Given the description of an element on the screen output the (x, y) to click on. 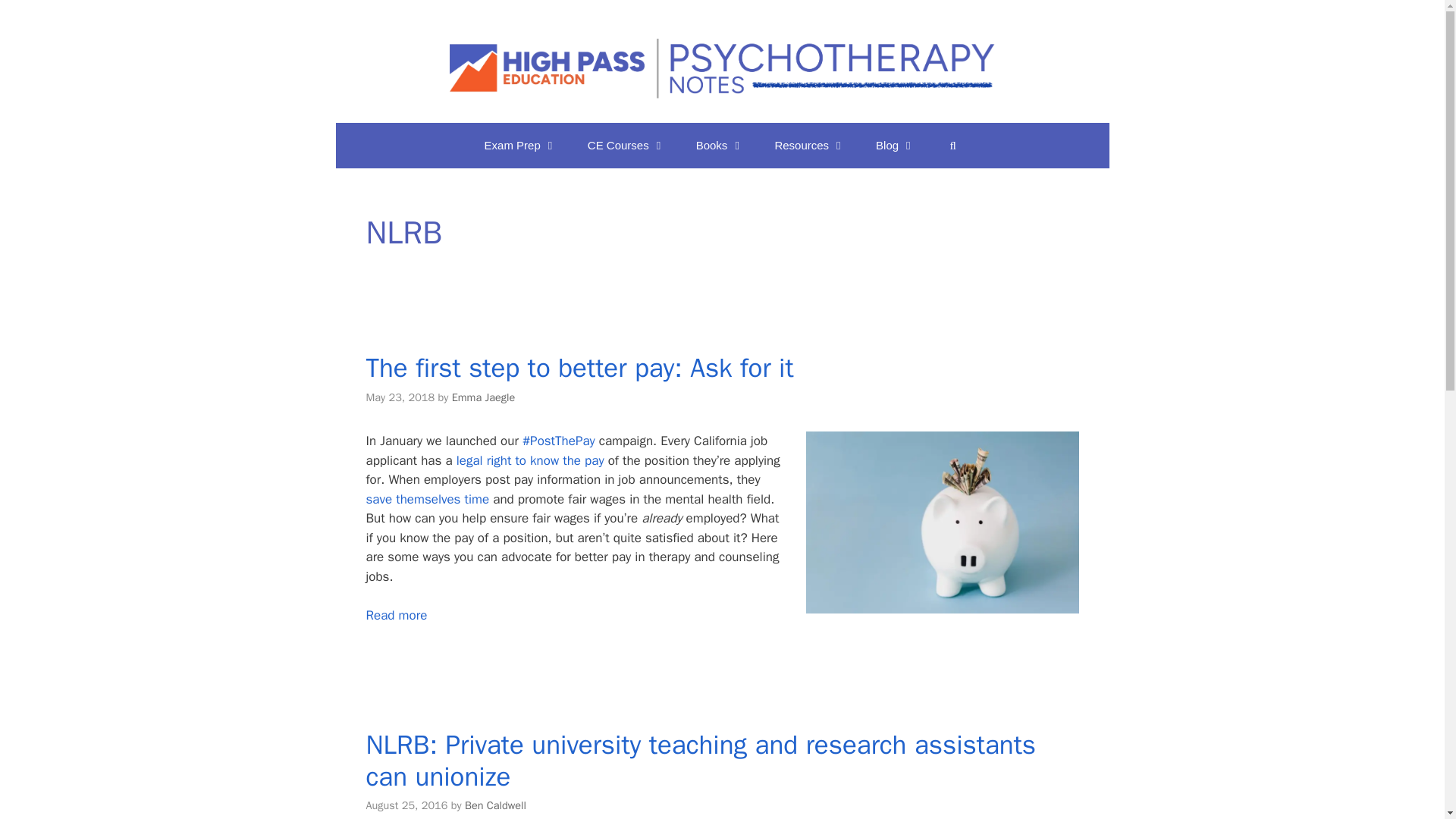
legal right to know the pay (530, 460)
save themselves time (427, 498)
Resources (809, 145)
The first step to better pay: Ask for it (579, 367)
Exam Prep (520, 145)
Books (720, 145)
View all posts by Ben Caldwell (494, 805)
Emma Jaegle (483, 397)
Read more (395, 615)
CE Courses (626, 145)
View all posts by Emma Jaegle (483, 397)
Blog (895, 145)
The first step to better pay: Ask for it (395, 615)
